Given the description of an element on the screen output the (x, y) to click on. 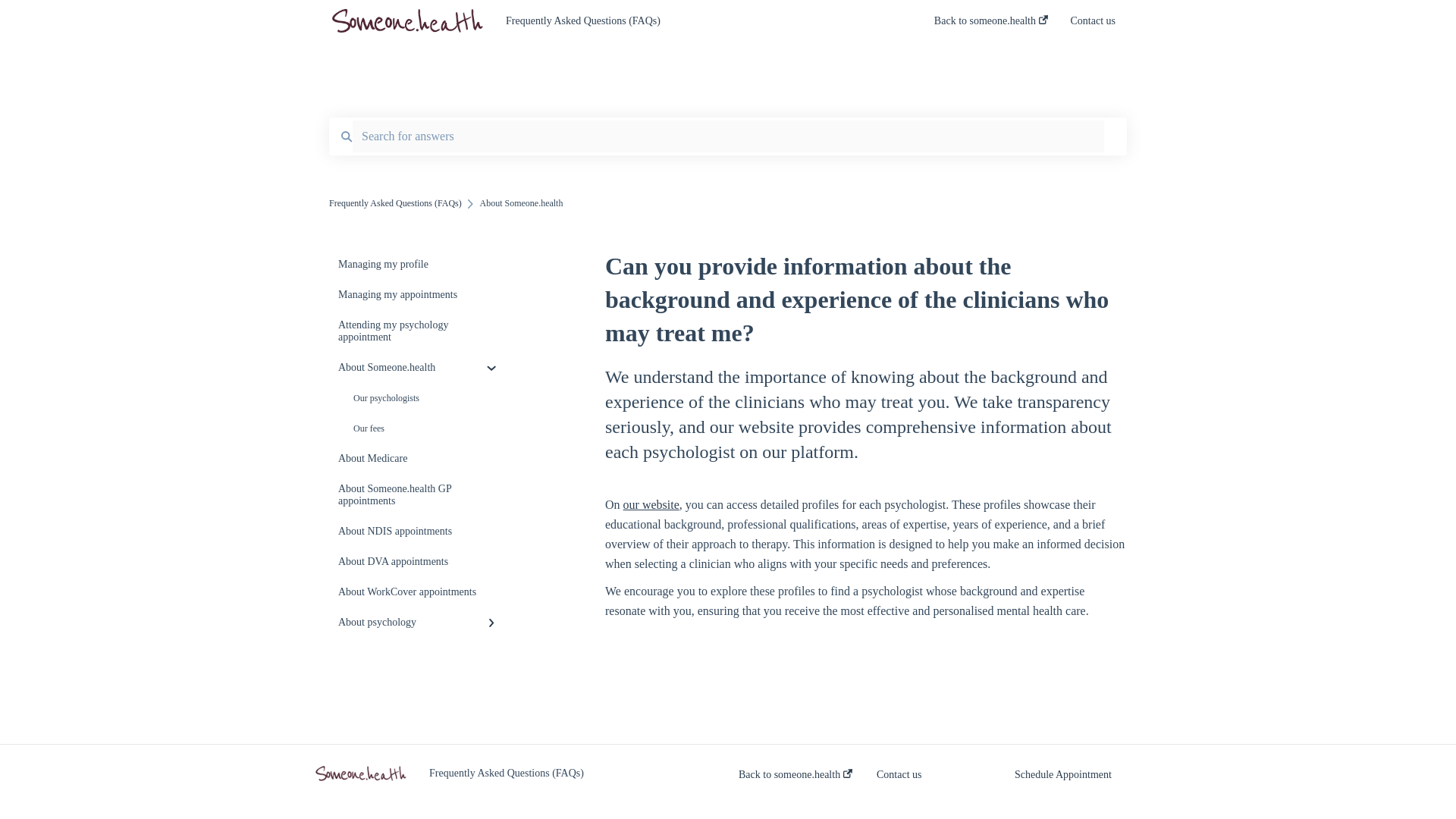
Back to someone.health (991, 25)
Attending my psychology appointment (420, 331)
About Medicare (420, 458)
Our psychologists (420, 398)
Managing my appointments (420, 295)
Our fees (420, 428)
Contact us (1093, 25)
About Someone.health (420, 367)
Managing my profile (420, 264)
About NDIS appointments (420, 531)
About Someone.health GP appointments (420, 495)
